Given the description of an element on the screen output the (x, y) to click on. 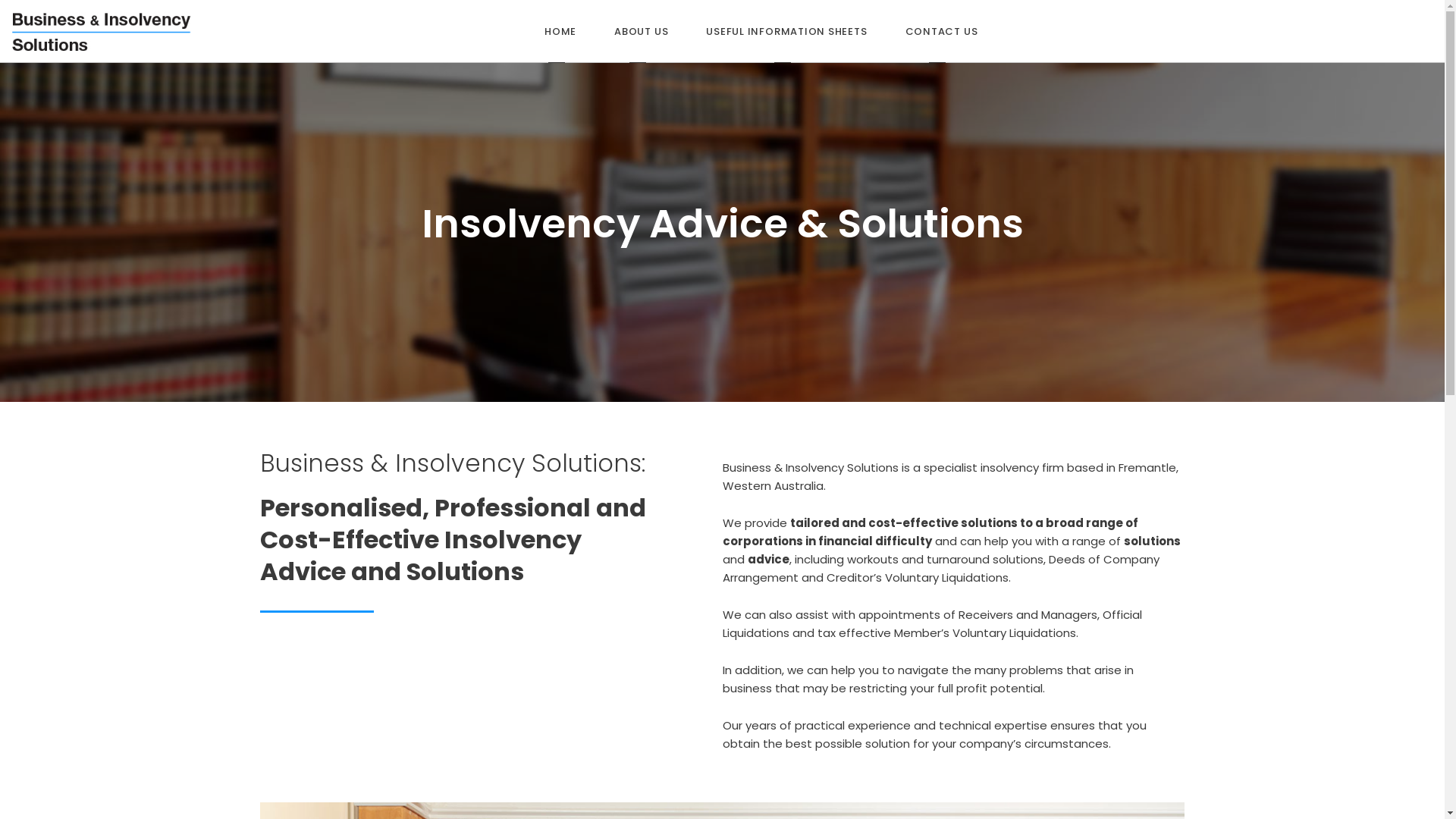
HOME Element type: text (560, 31)
Send us a Message Element type: text (647, 685)
CONTACT US Element type: text (941, 31)
HOME Element type: text (264, 547)
ABOUT US Element type: text (640, 31)
CONTACT US Element type: text (281, 615)
ABOUT US Element type: text (274, 570)
USEFUL INFORMATION SHEETS Element type: text (786, 31)
USEFUL INFORMATION SHEETS Element type: text (319, 593)
